Given the description of an element on the screen output the (x, y) to click on. 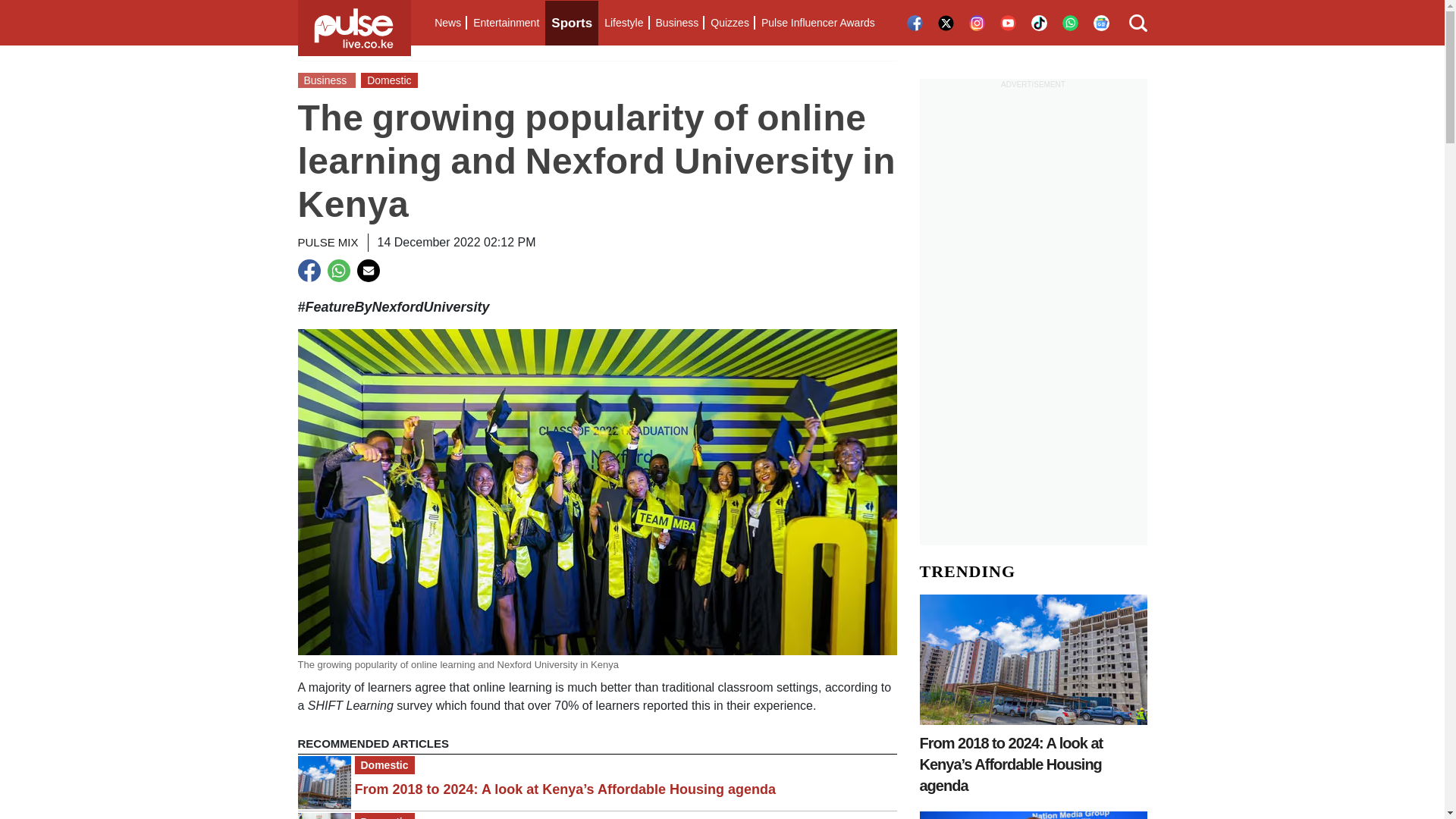
Lifestyle (623, 22)
Quizzes (729, 22)
Sports (571, 22)
Entertainment (505, 22)
Business (676, 22)
Pulse Influencer Awards (817, 22)
